Given the description of an element on the screen output the (x, y) to click on. 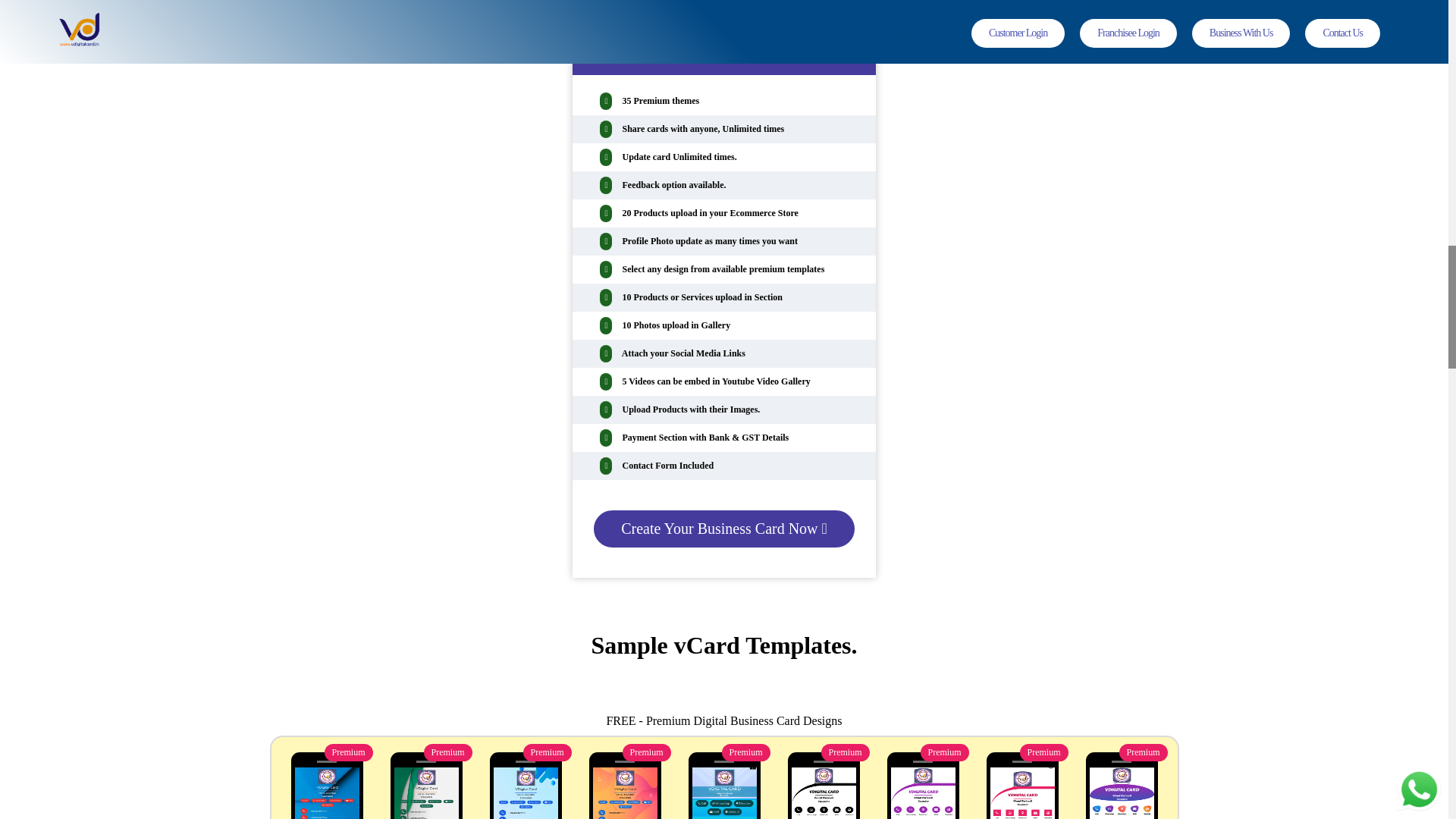
Create Your Business Card Now (723, 528)
